Given the description of an element on the screen output the (x, y) to click on. 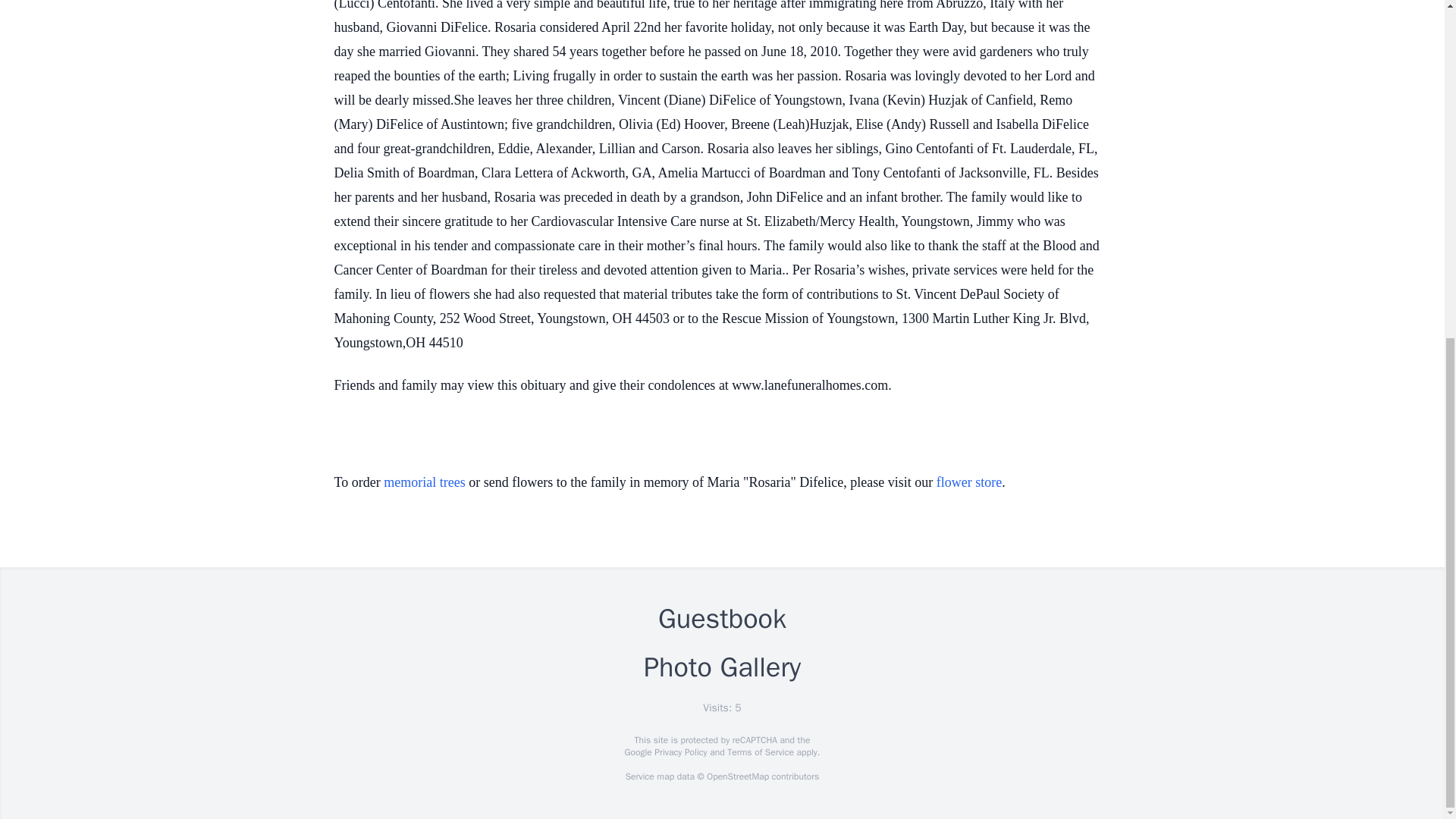
memorial trees (424, 482)
flower store (968, 482)
Terms of Service (759, 752)
OpenStreetMap (737, 776)
Privacy Policy (679, 752)
